Given the description of an element on the screen output the (x, y) to click on. 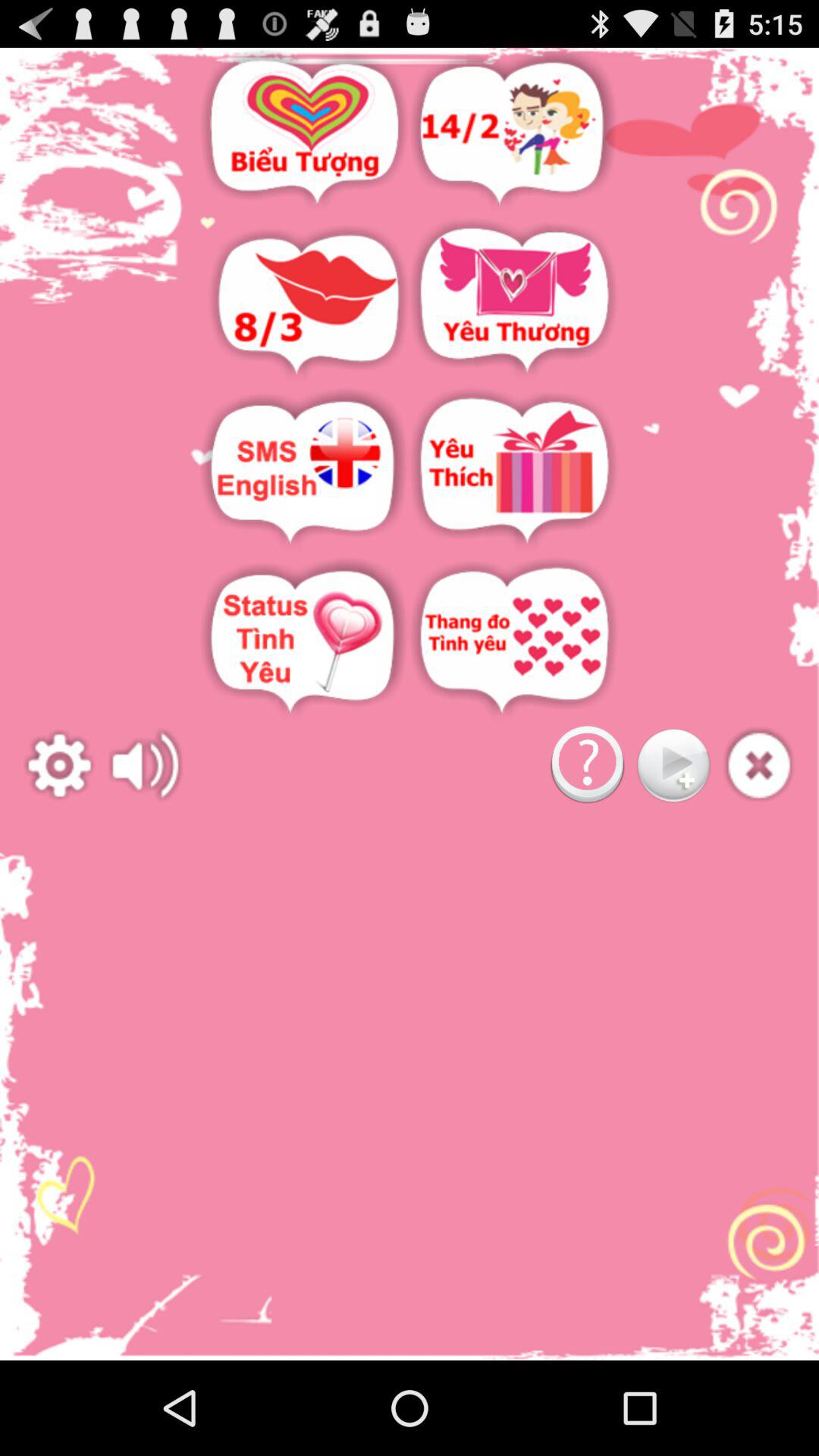
go to qustion (587, 765)
